Given the description of an element on the screen output the (x, y) to click on. 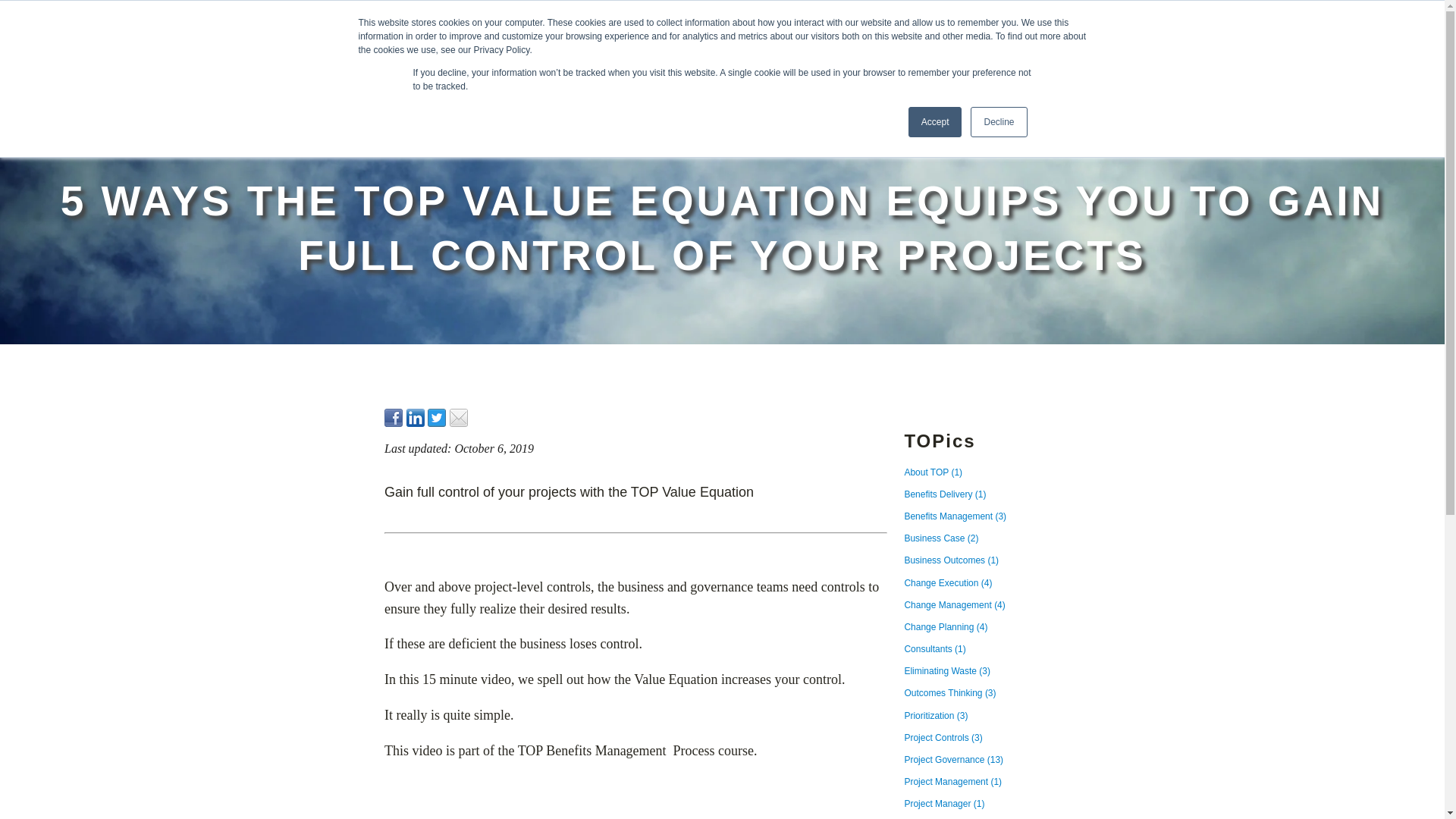
Accept (935, 122)
LEARN ONLINE (1162, 54)
ABOUT (1264, 54)
Totally Optimized Projects (123, 38)
EXPLORE (1052, 54)
Decline (998, 122)
